Given the description of an element on the screen output the (x, y) to click on. 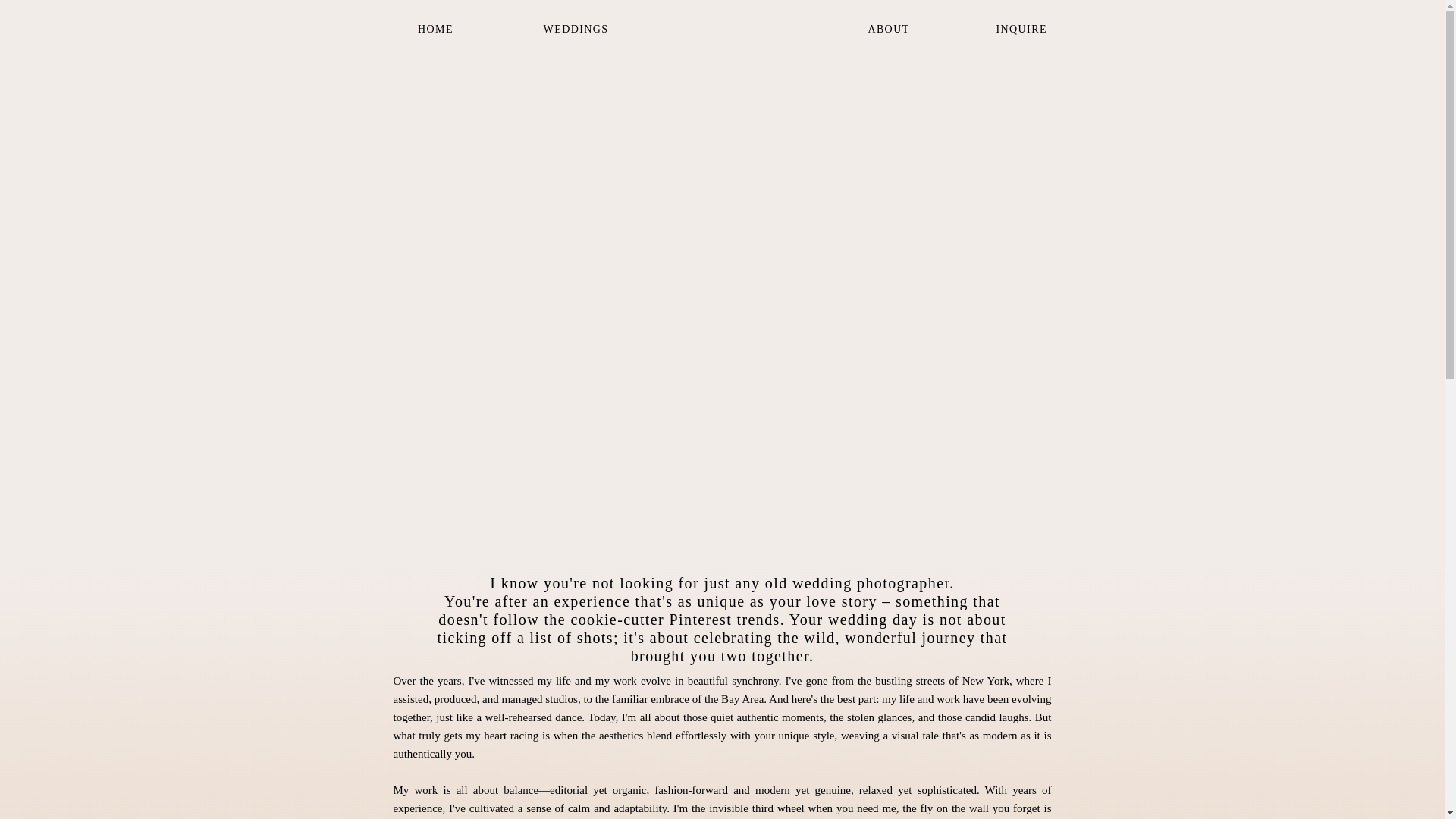
ABOUT (888, 30)
HOME (435, 30)
INQUIRE (1020, 30)
WEDDINGS (576, 30)
